Given the description of an element on the screen output the (x, y) to click on. 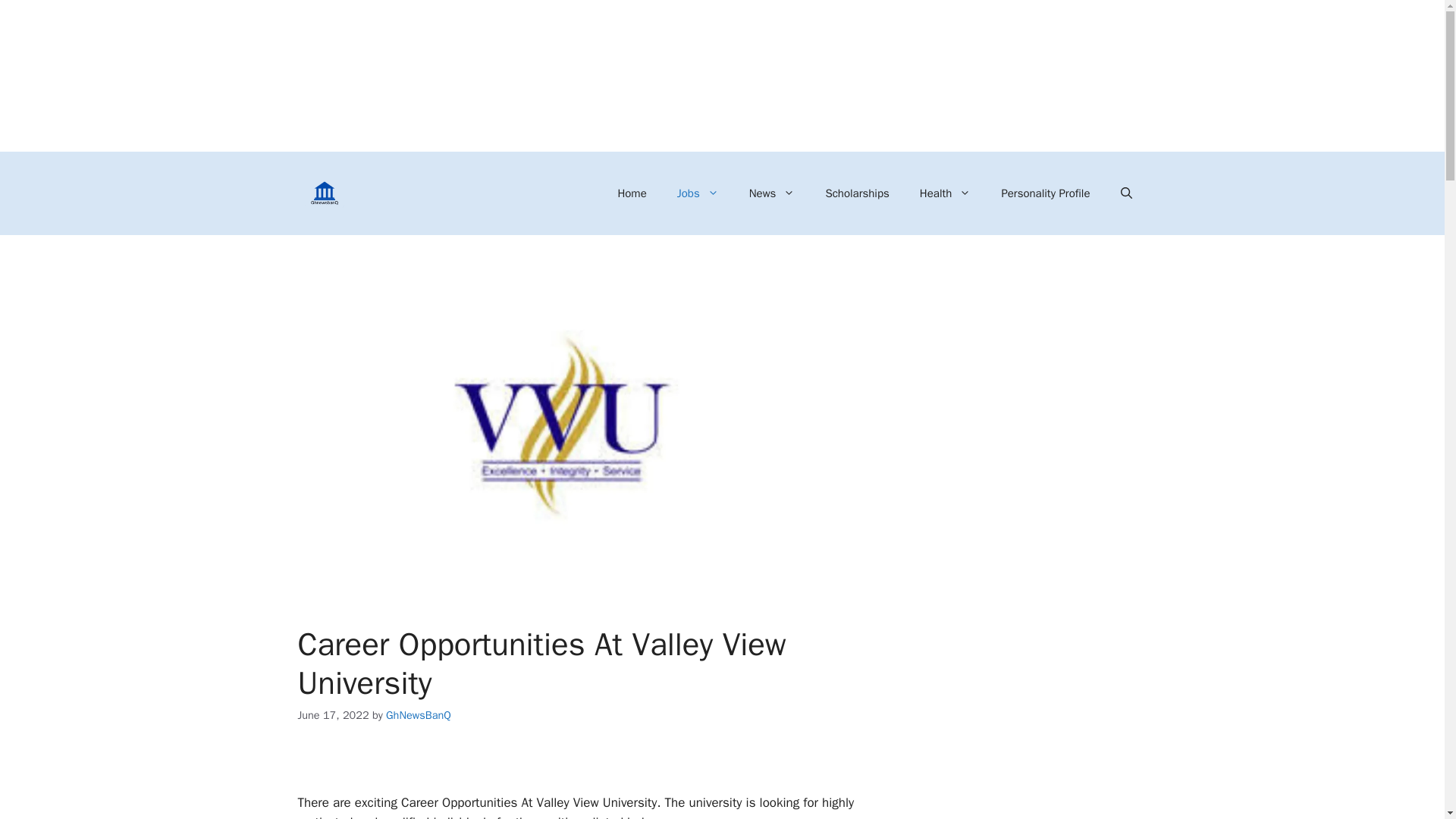
GhNewsBanQ (418, 714)
Scholarships (856, 193)
News (771, 193)
View all posts by GhNewsBanQ (418, 714)
Jobs (697, 193)
Advertisement (418, 742)
Advertisement (964, 477)
Home (631, 193)
Health (945, 193)
Personality Profile (1045, 193)
